Given the description of an element on the screen output the (x, y) to click on. 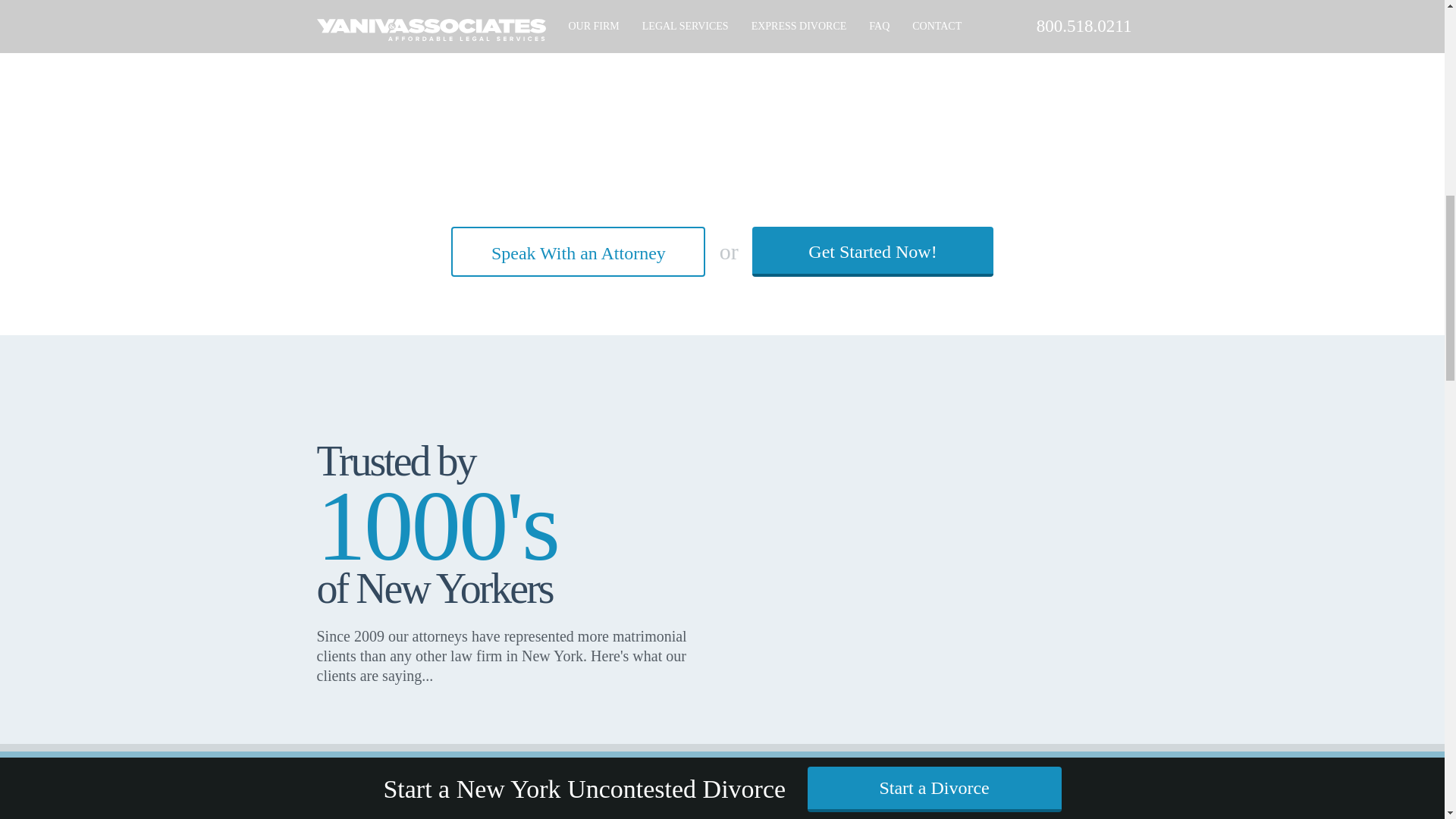
Get Started Now! (872, 251)
Speak With an Attorney (577, 251)
Speak With an Attorney (577, 251)
Get Started Now! (872, 251)
